Given the description of an element on the screen output the (x, y) to click on. 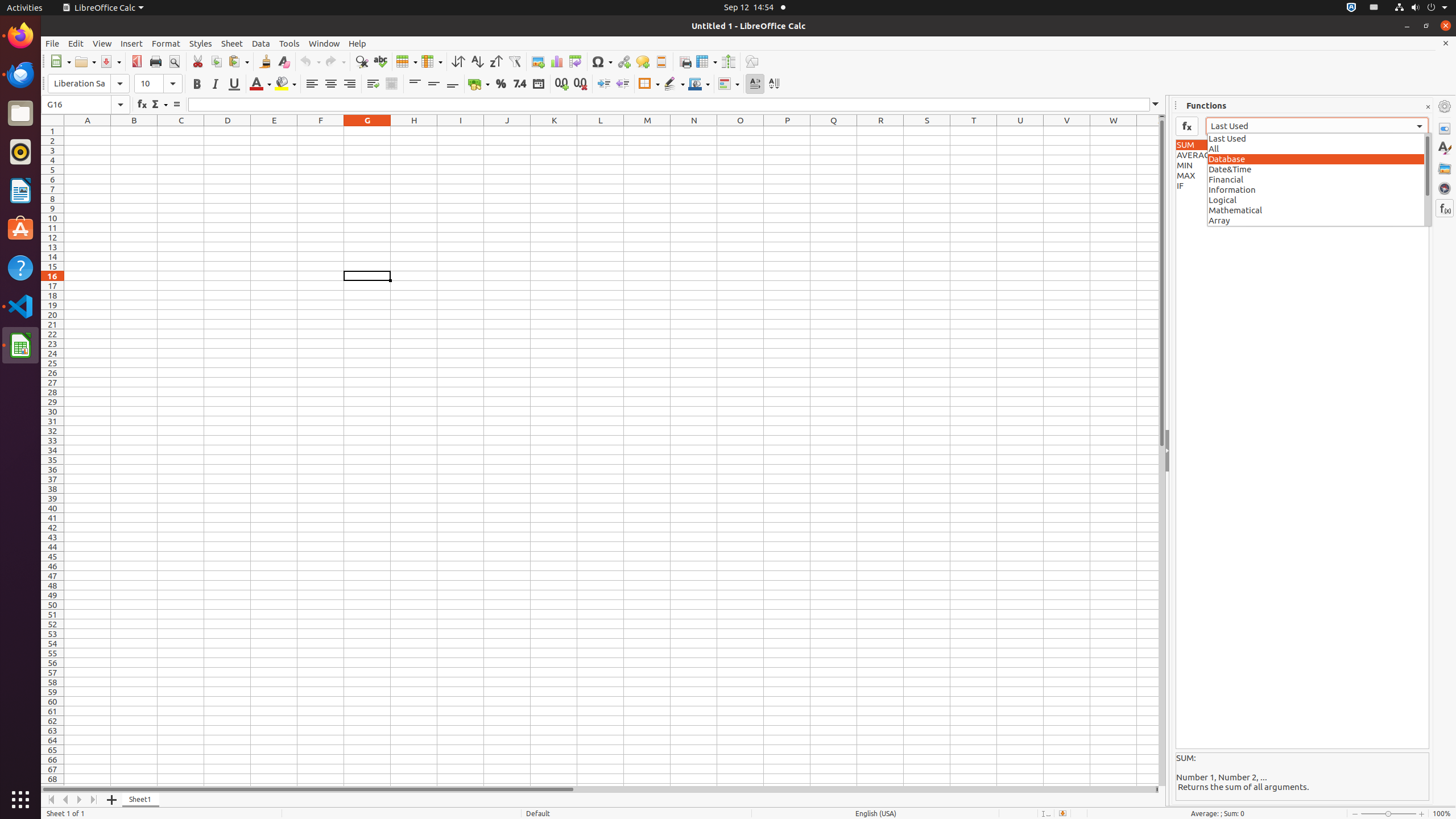
Close Sidebar Deck Element type: push-button (1427, 106)
Text direction from top to bottom Element type: toggle-button (773, 83)
U1 Element type: table-cell (1020, 130)
Row Element type: push-button (406, 61)
Number Element type: push-button (519, 83)
